Given the description of an element on the screen output the (x, y) to click on. 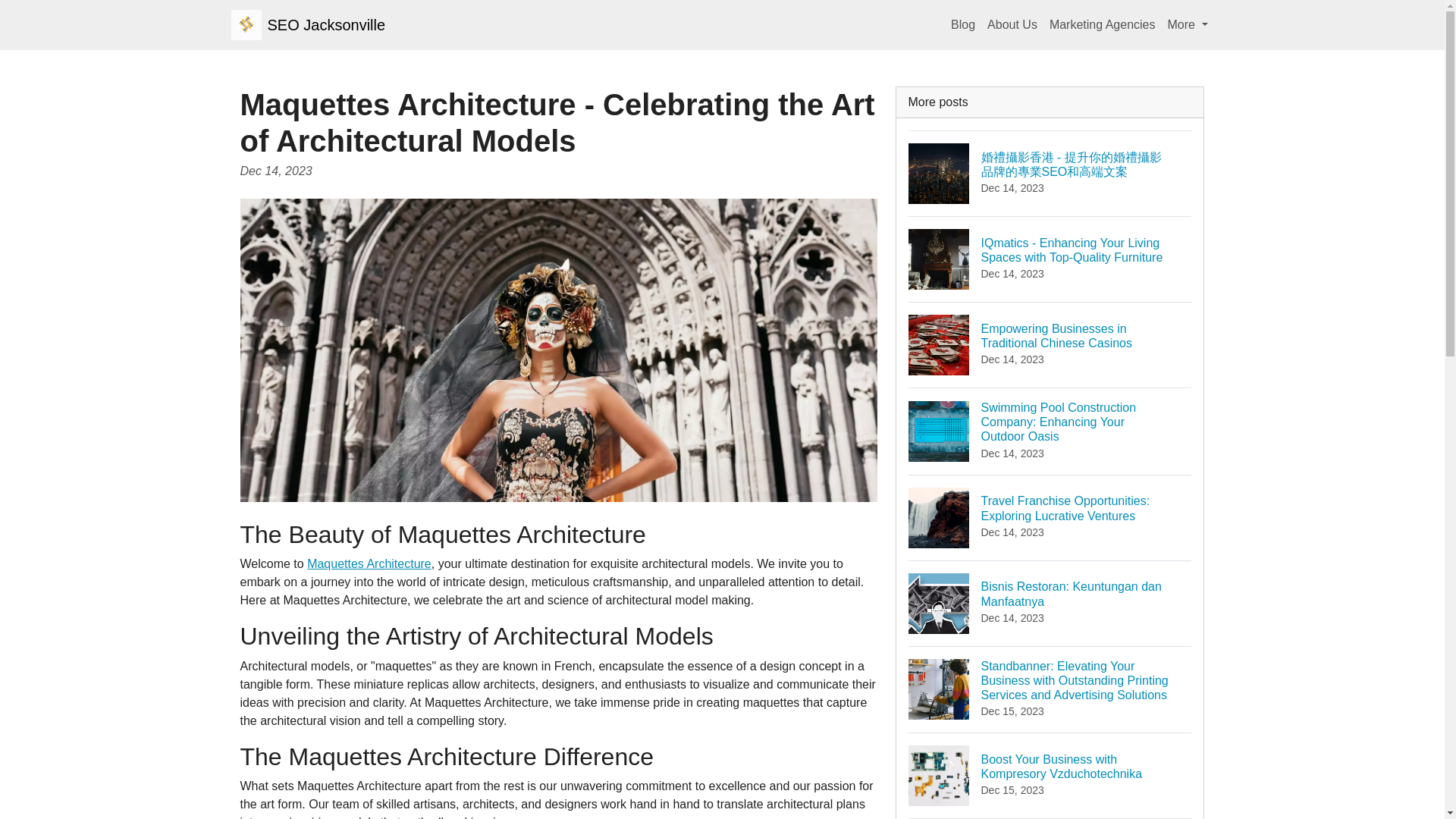
Marketing Agencies (1102, 24)
About Us (1050, 603)
SEO Jacksonville (1012, 24)
Blog (307, 24)
Maquettes Architecture (962, 24)
